Given the description of an element on the screen output the (x, y) to click on. 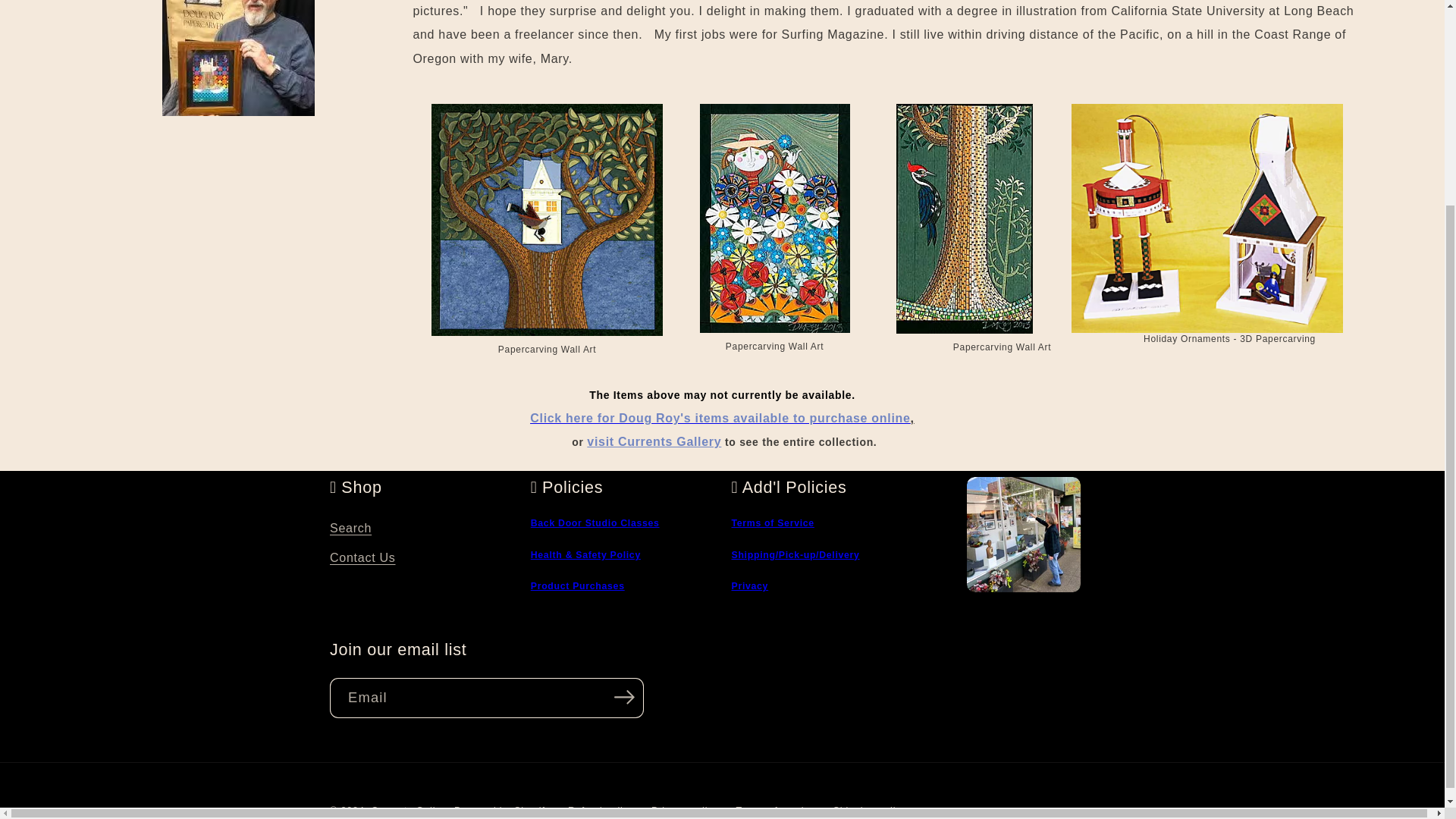
Terms of Service (771, 522)
Covid -19 Prevention Policy. (585, 554)
Shipping Policy (794, 554)
Refund Policy (577, 585)
Privacy Policy (749, 585)
